Given the description of an element on the screen output the (x, y) to click on. 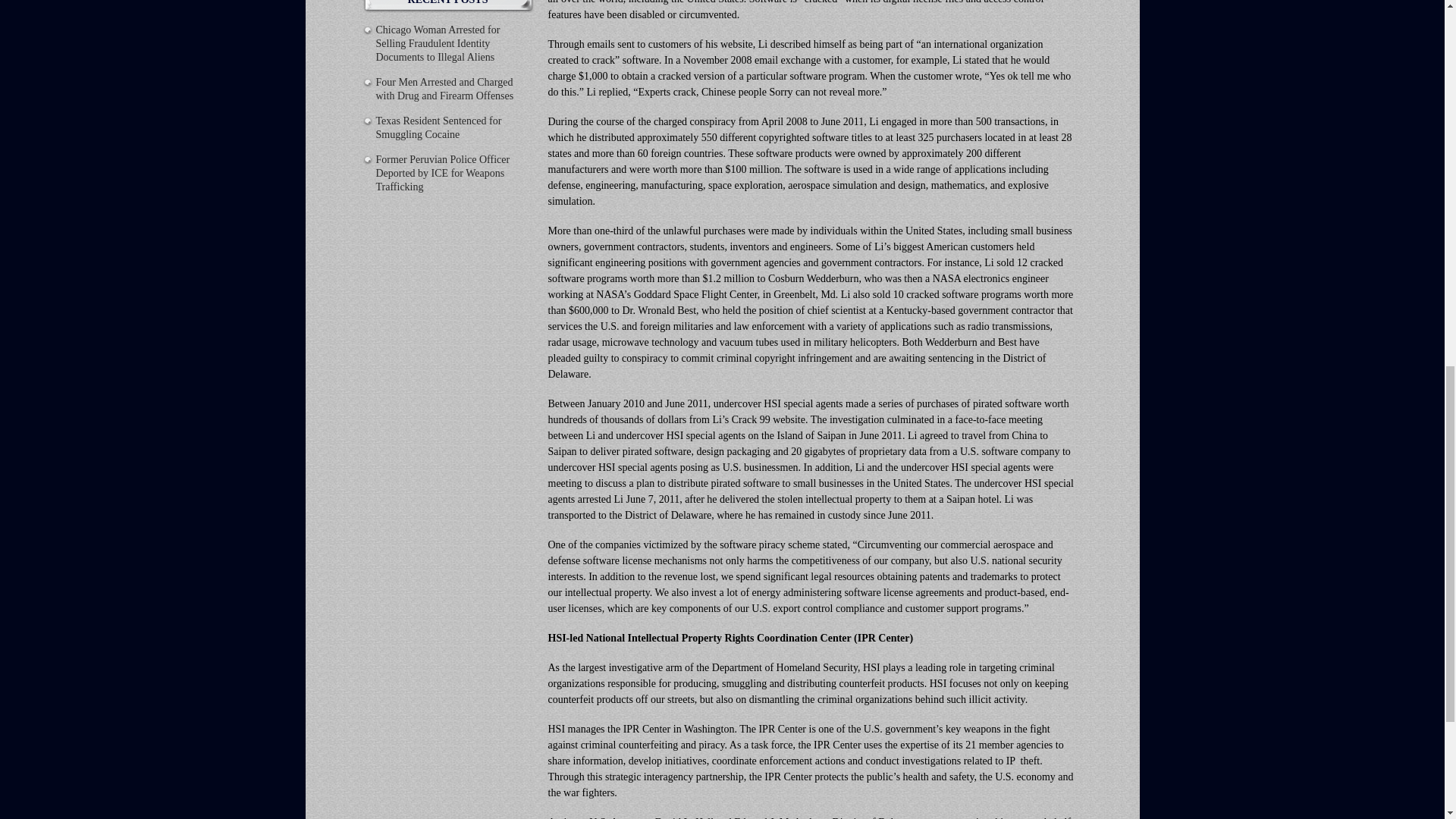
Texas Resident Sentenced for Smuggling Cocaine (438, 127)
Four Men Arrested and Charged with Drug and Firearm Offenses (444, 88)
